Given the description of an element on the screen output the (x, y) to click on. 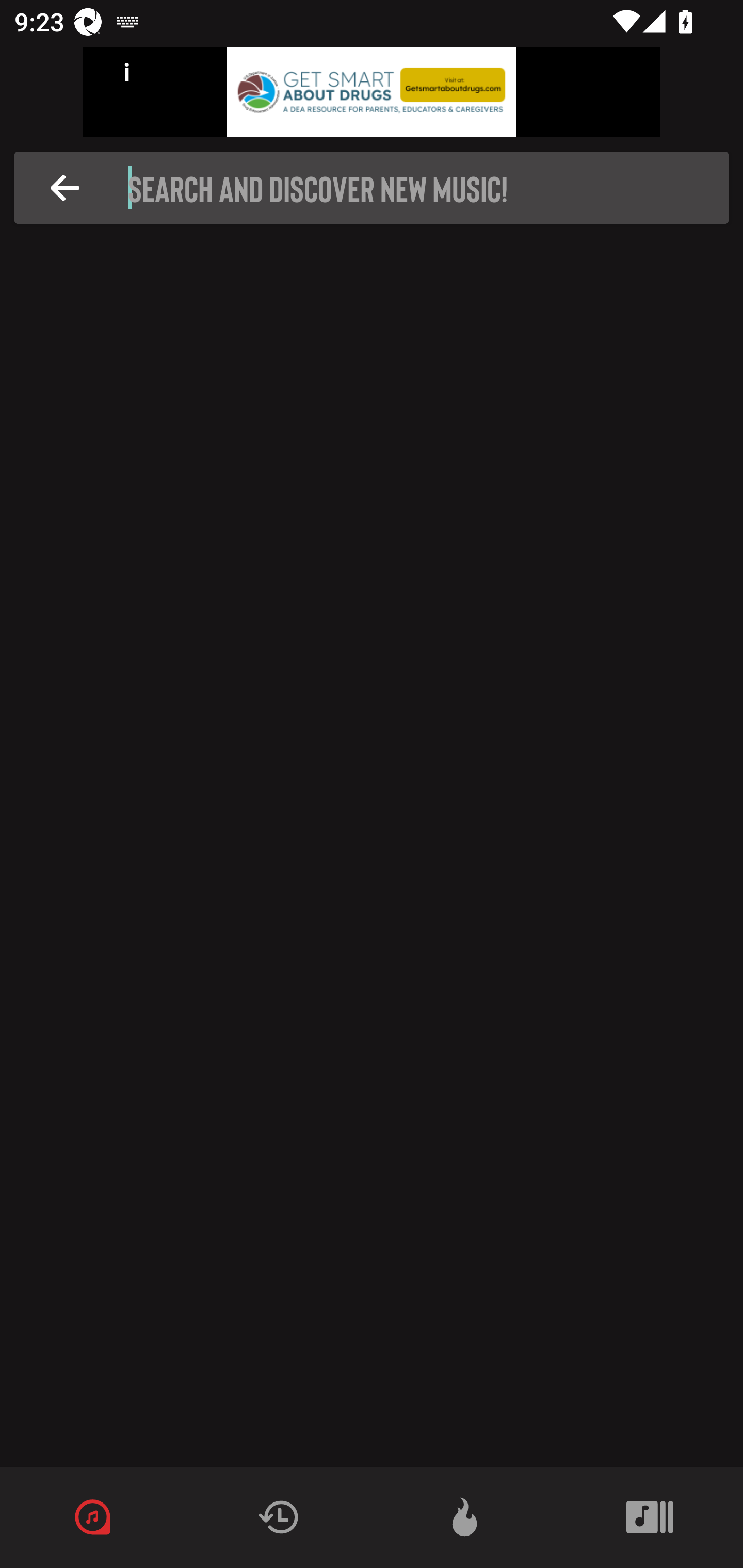
SEARCH AND DISCOVER NEW MUSIC! (377, 188)
Description (64, 188)
